Given the description of an element on the screen output the (x, y) to click on. 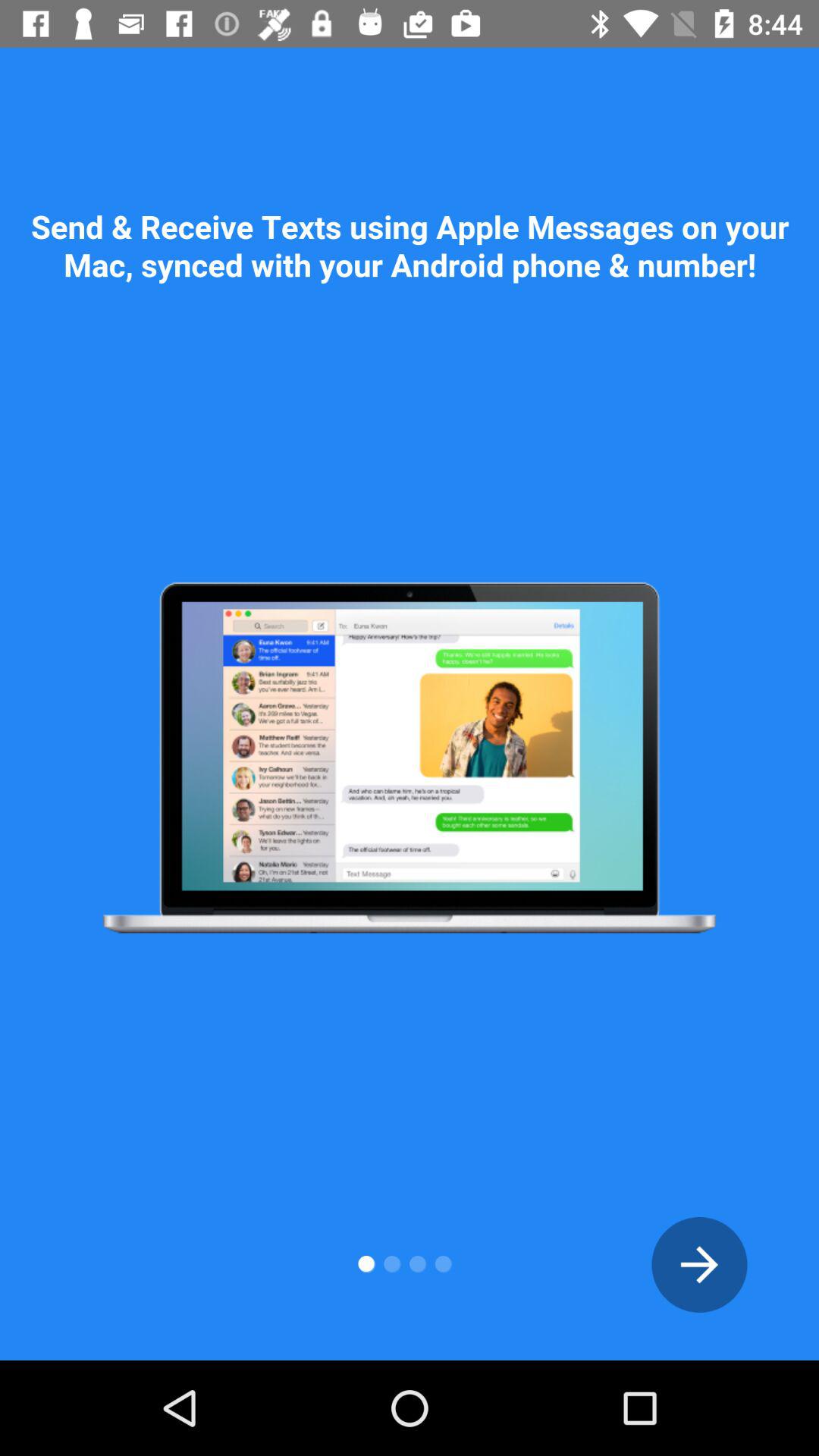
go to advertisement (699, 1264)
